Given the description of an element on the screen output the (x, y) to click on. 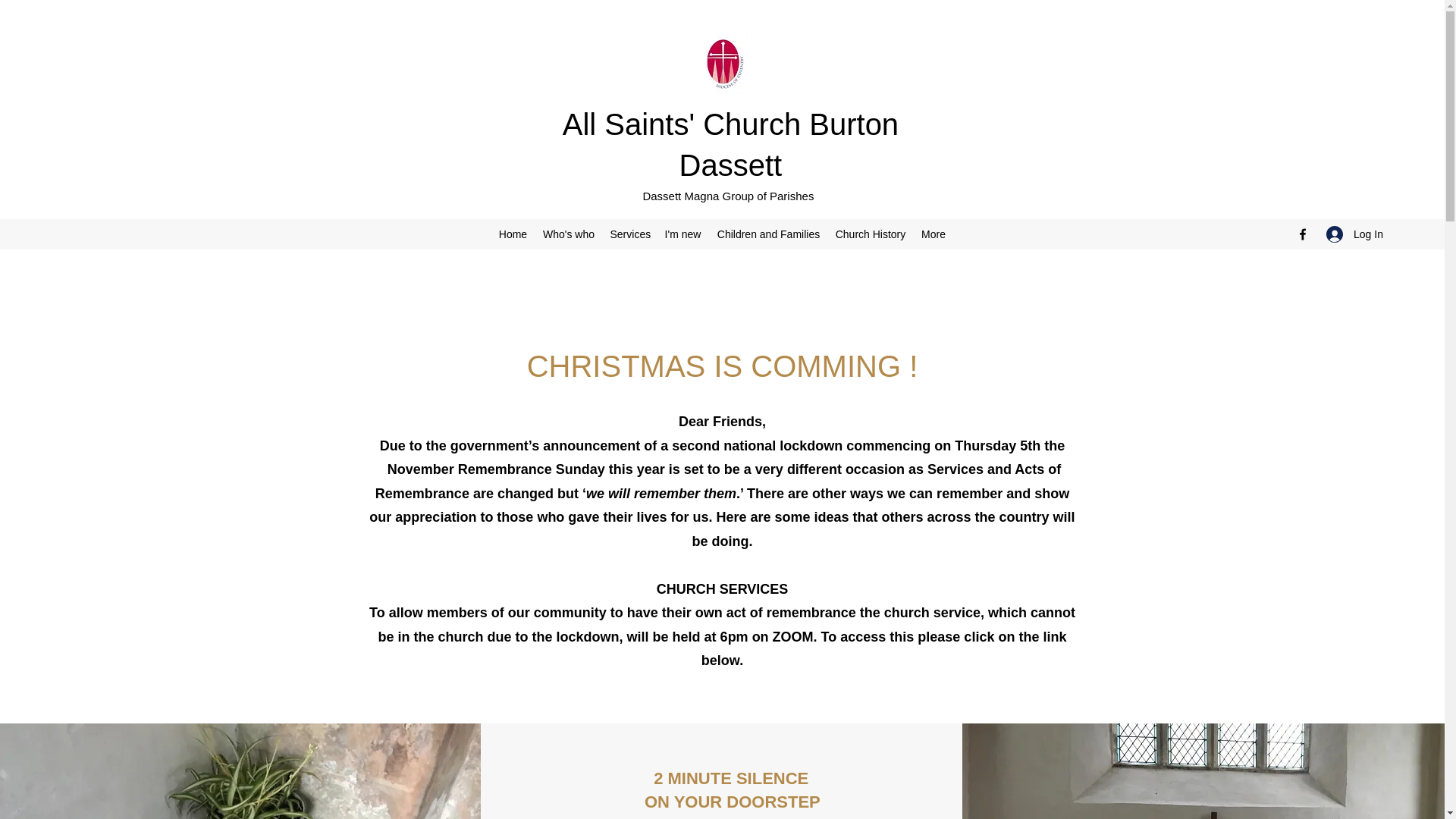
Who's who (568, 233)
Children and Families (769, 233)
Church History (871, 233)
All Saints' Church Burton Dassett (730, 144)
Home (513, 233)
I'm new (683, 233)
Log In (1350, 234)
Services (629, 233)
